Given the description of an element on the screen output the (x, y) to click on. 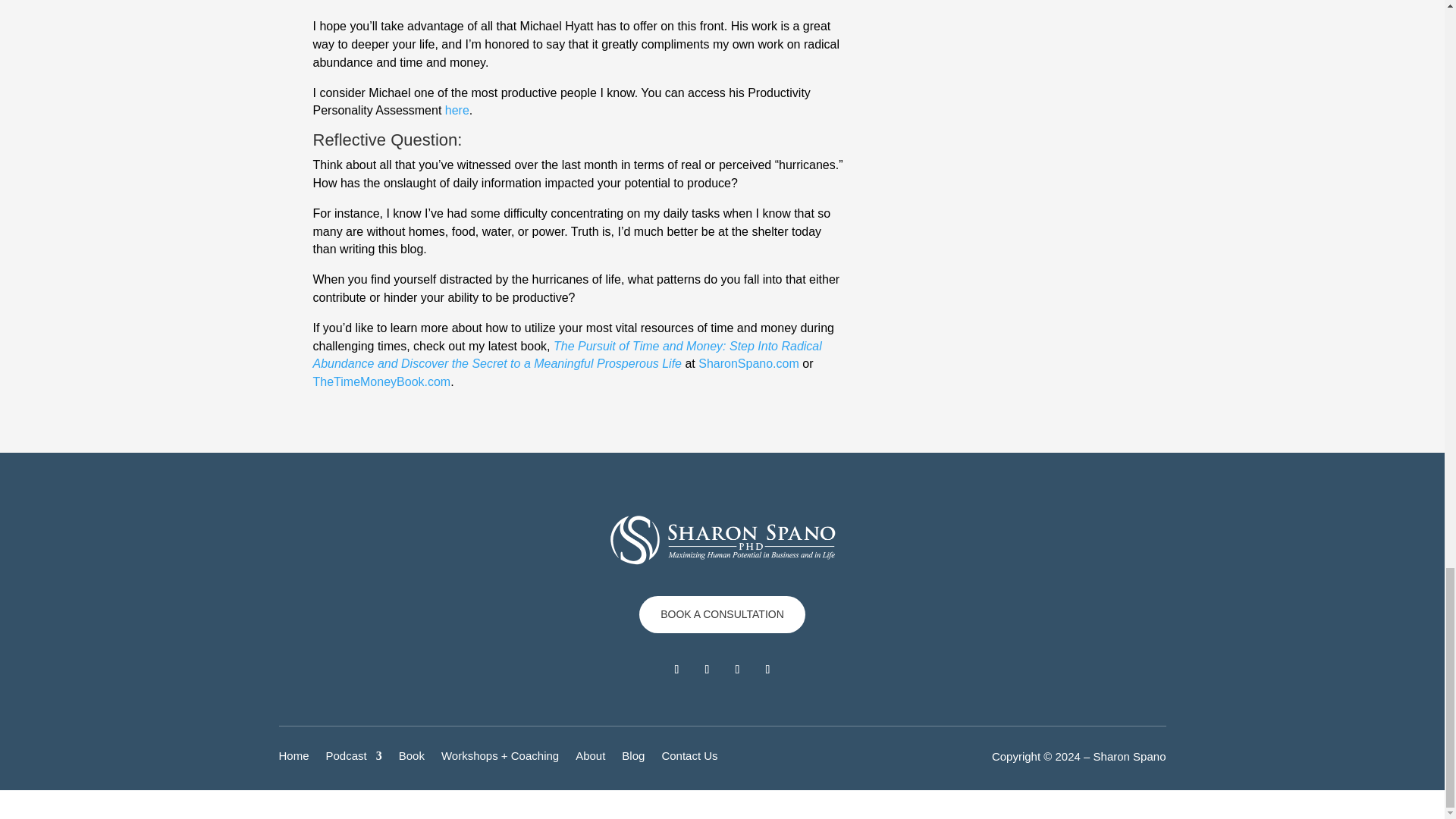
Follow on Facebook (706, 669)
Follow on Instagram (737, 669)
here (456, 110)
Follow on X (766, 669)
BOOK A CONSULTATION (722, 614)
Spano Logo (721, 539)
Follow on LinkedIn (675, 669)
TheTimeMoneyBook.com (381, 381)
SharonSpano.com (748, 363)
